Given the description of an element on the screen output the (x, y) to click on. 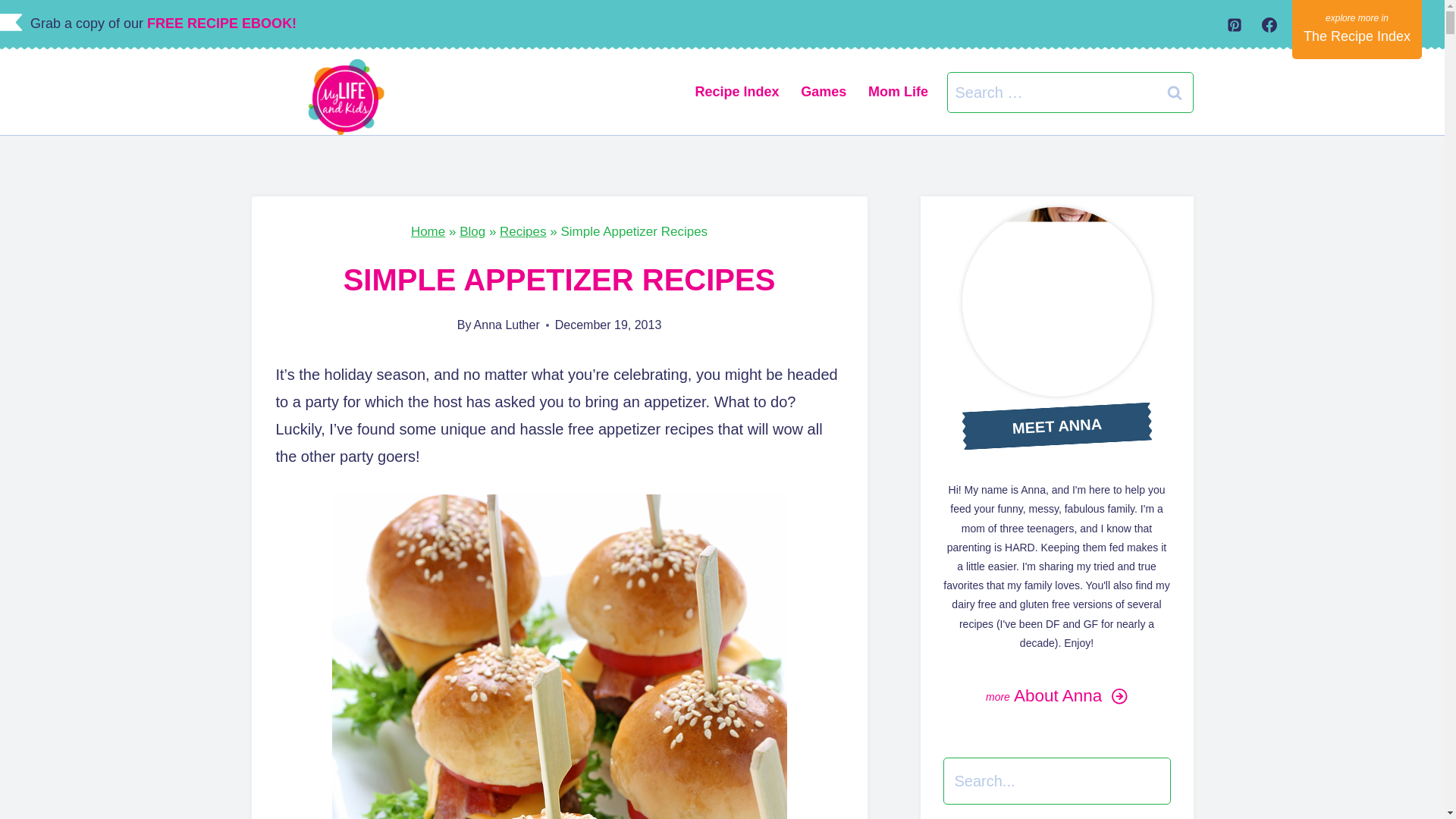
Recipes (522, 231)
FREE RECIPE EBOOK!   (225, 23)
Blog (472, 231)
Anna Luther (507, 324)
Search (1174, 92)
Games (823, 92)
Search (1174, 92)
Home (427, 231)
Mom Life (898, 92)
Search (1174, 92)
